Given the description of an element on the screen output the (x, y) to click on. 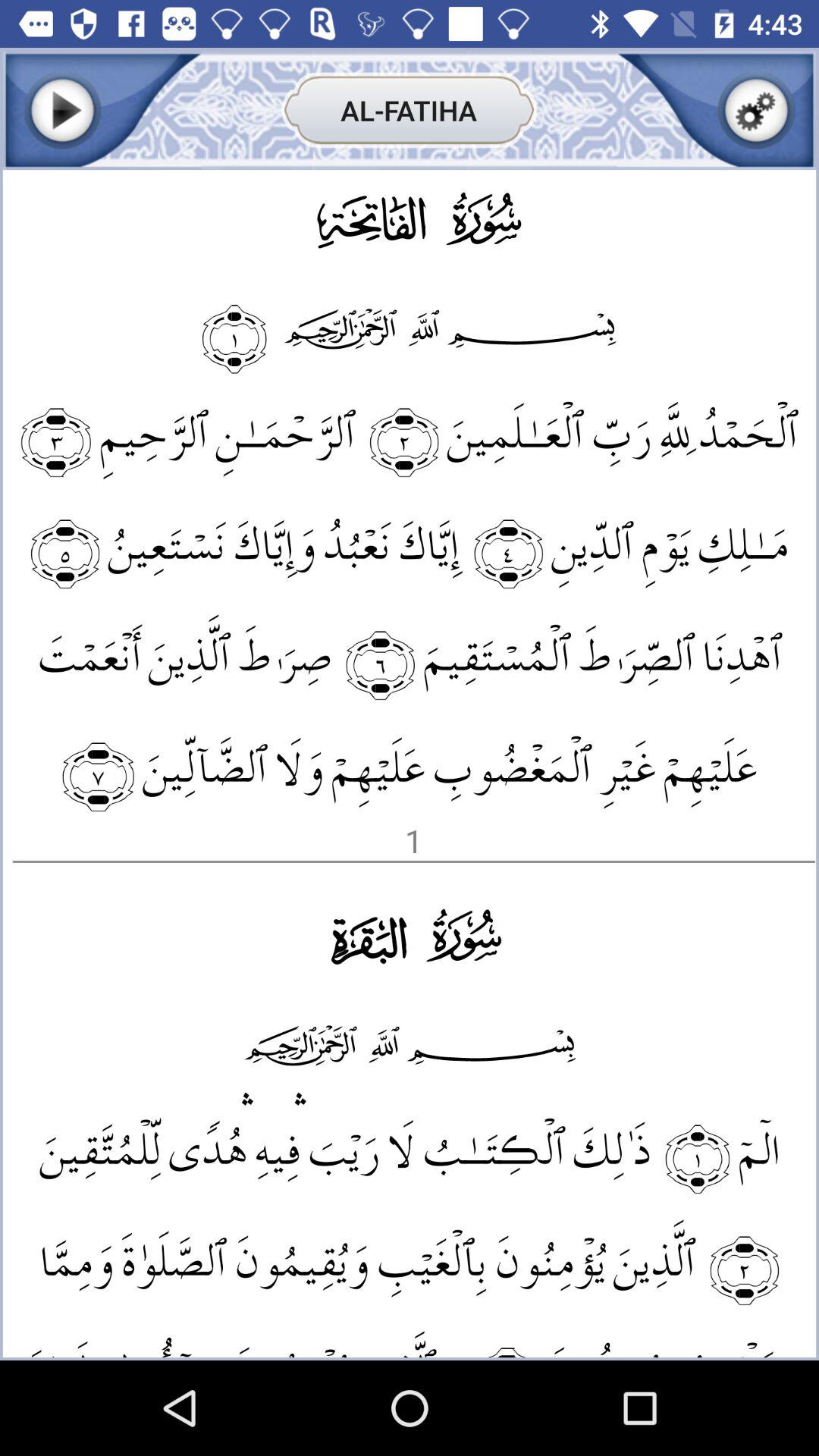
go to settings (756, 110)
